Given the description of an element on the screen output the (x, y) to click on. 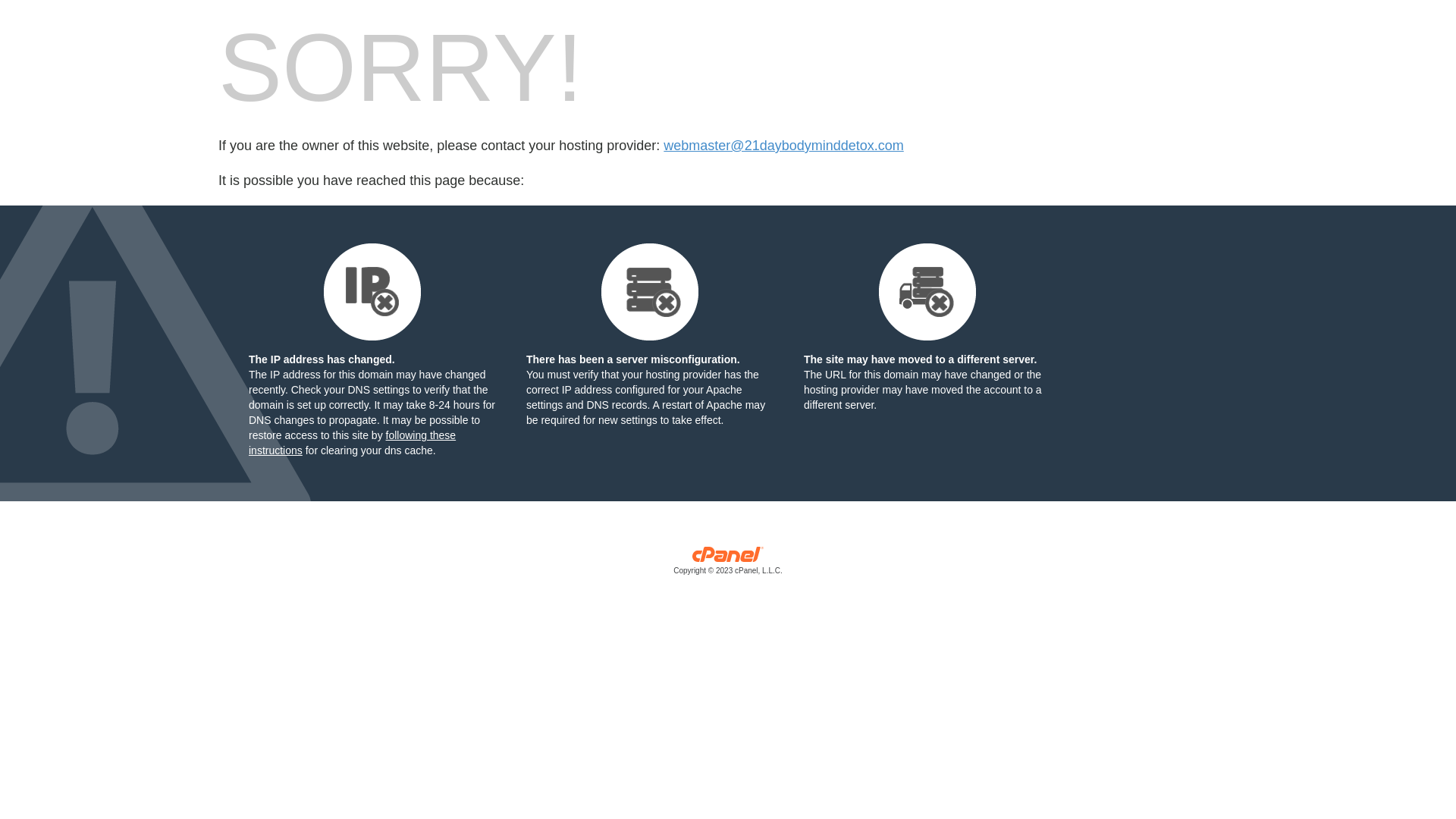
webmaster@21daybodyminddetox.com Element type: text (783, 145)
following these instructions Element type: text (351, 442)
